Given the description of an element on the screen output the (x, y) to click on. 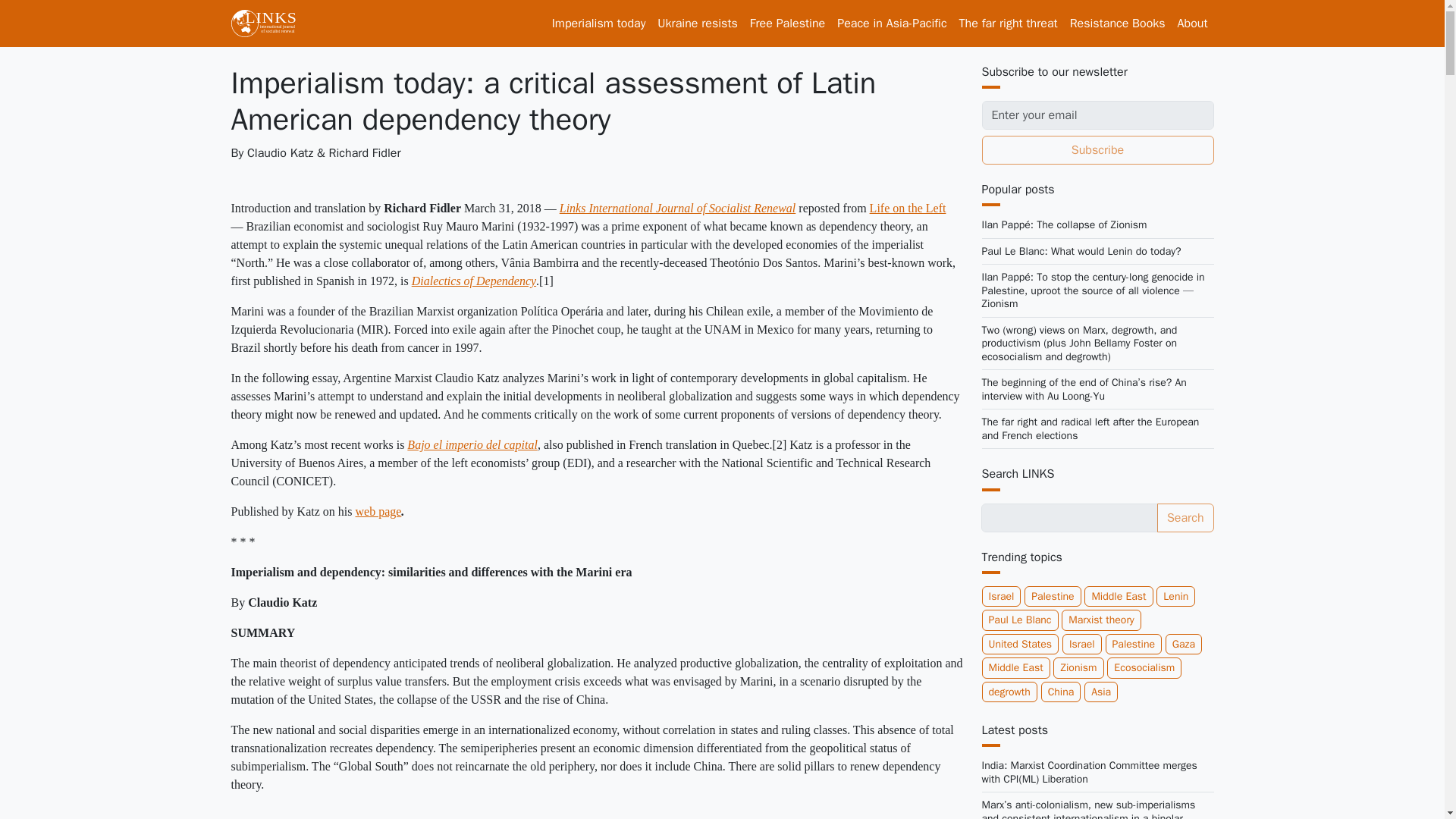
Paul Le Blanc (1019, 619)
Peace in Asia-Pacific (891, 23)
Bajo el imperio del capital (472, 444)
Search (1185, 517)
Richard Fidler (365, 152)
Skip to main content (60, 11)
Imperialism today (599, 23)
Links International Journal of Socialist Renewal (677, 207)
Search (1185, 517)
About (1193, 23)
